Given the description of an element on the screen output the (x, y) to click on. 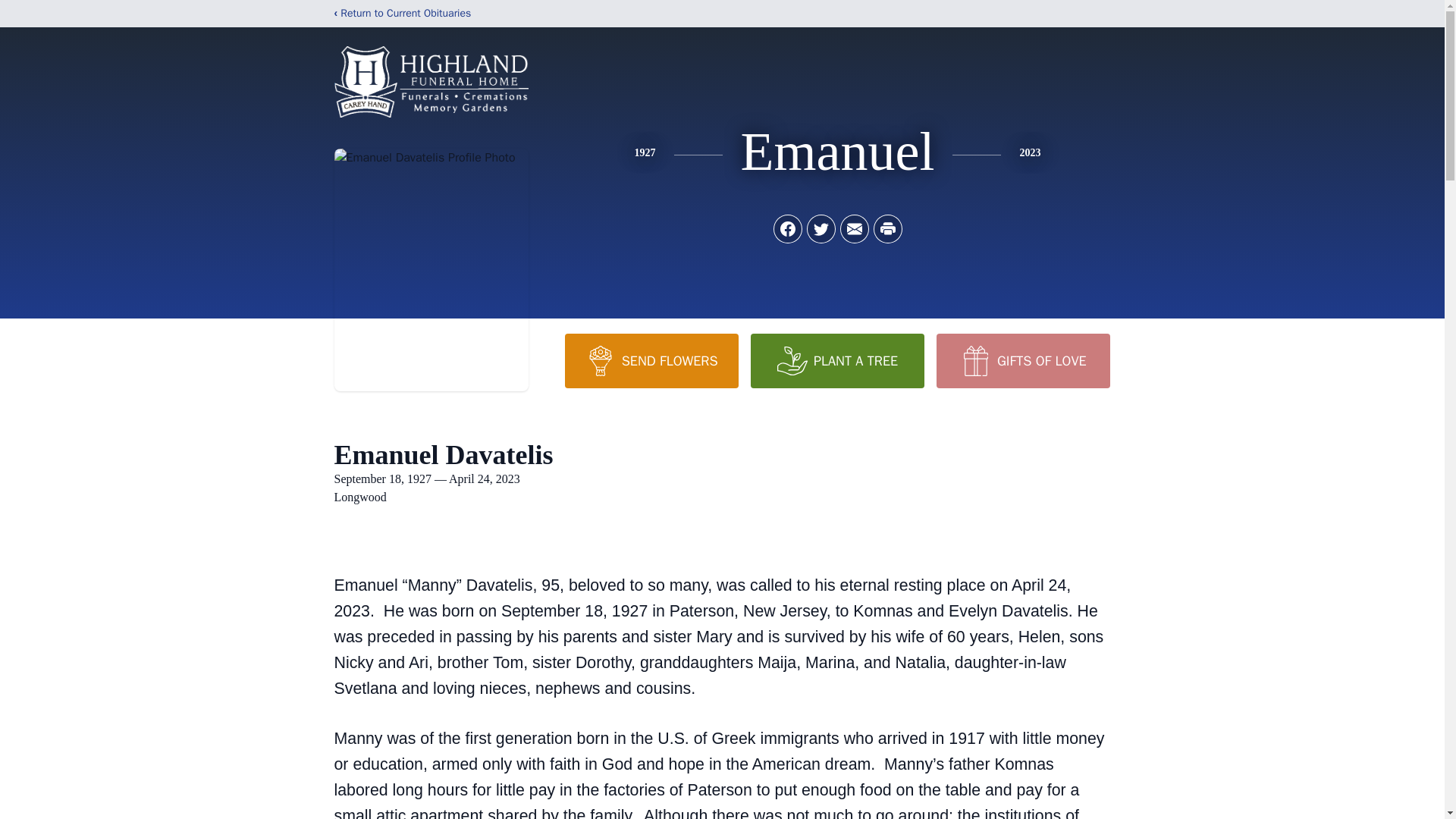
GIFTS OF LOVE (1022, 360)
SEND FLOWERS (651, 360)
PLANT A TREE (837, 360)
